Given the description of an element on the screen output the (x, y) to click on. 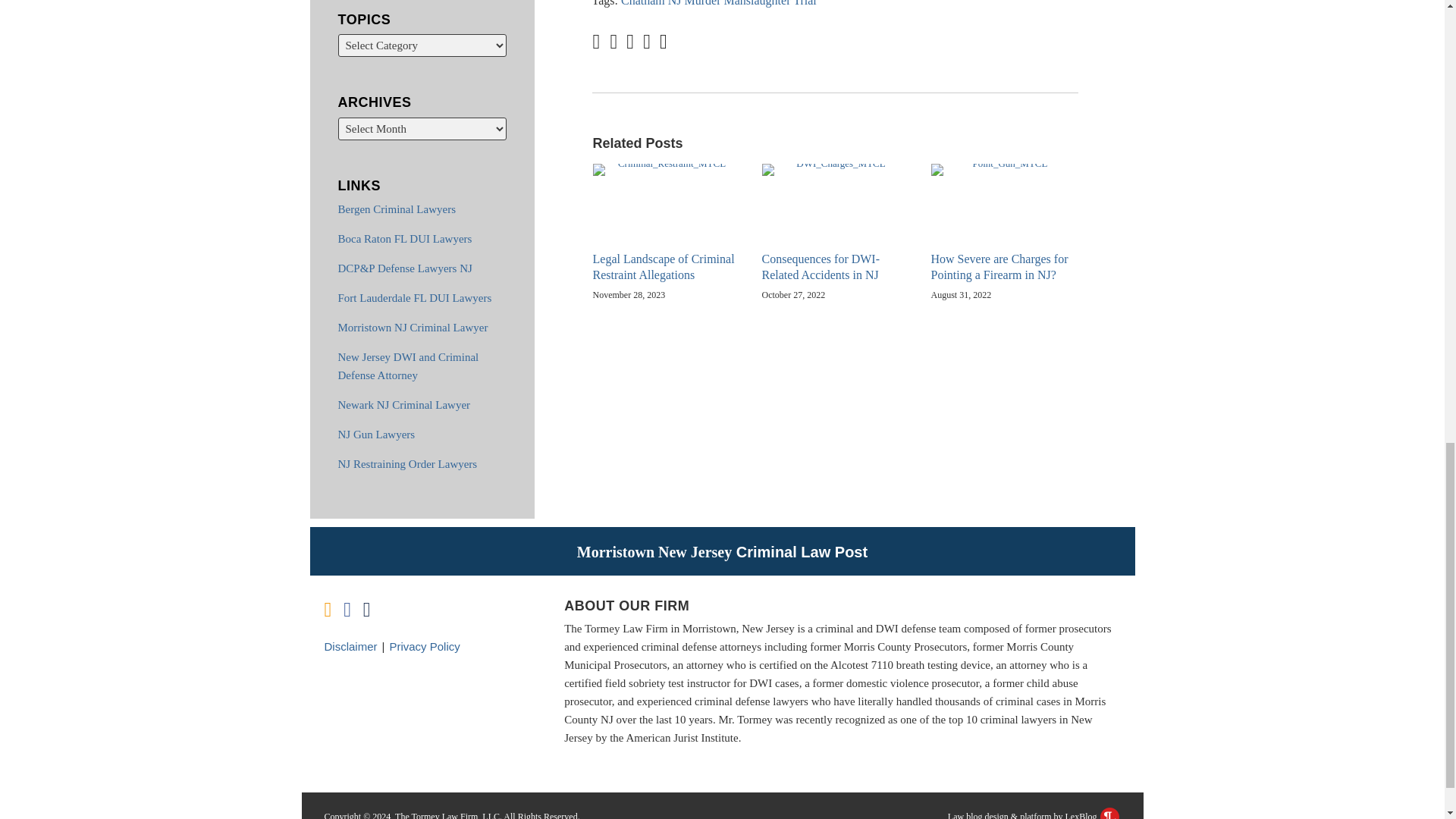
Boca Raton FL DUI Lawyers (404, 238)
NJ Gun Lawyers (375, 434)
Fort Lauderdale FL DUI Lawyers (414, 297)
Legal Landscape of Criminal Restraint Allegations (665, 267)
Bergen Criminal Lawyers (397, 209)
Newark NJ Criminal Lawyer (403, 404)
How Severe are Charges for Pointing a Firearm in NJ? (1004, 267)
New Jersey DWI and Criminal Defense Attorney (408, 366)
Morristown New Jersey Criminal Law Post (721, 551)
Chatham NJ Murder Manslaughter Trial (718, 3)
